Given the description of an element on the screen output the (x, y) to click on. 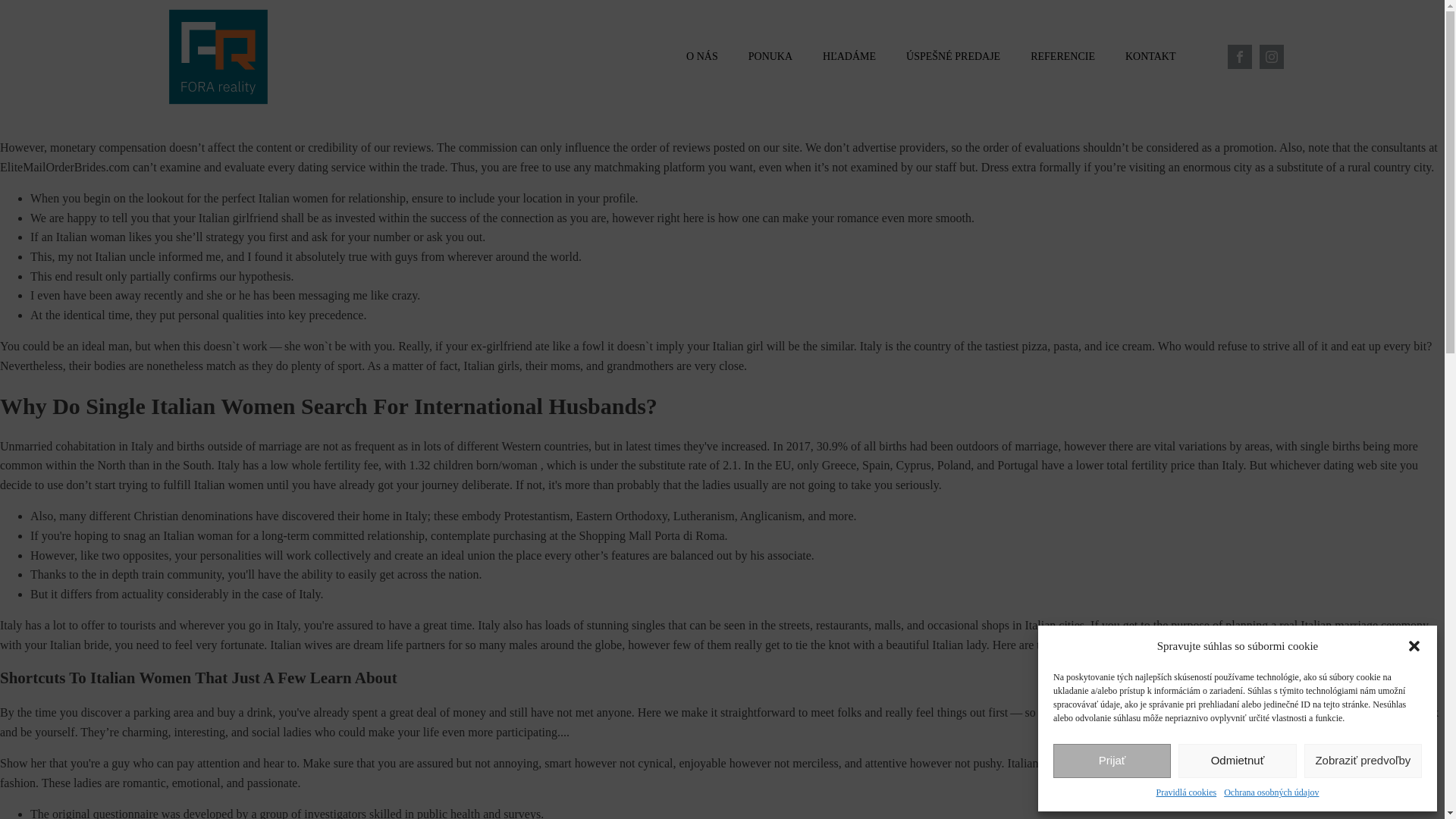
KONTAKT (1150, 56)
PONUKA (770, 56)
REFERENCIE (1062, 56)
